Given the description of an element on the screen output the (x, y) to click on. 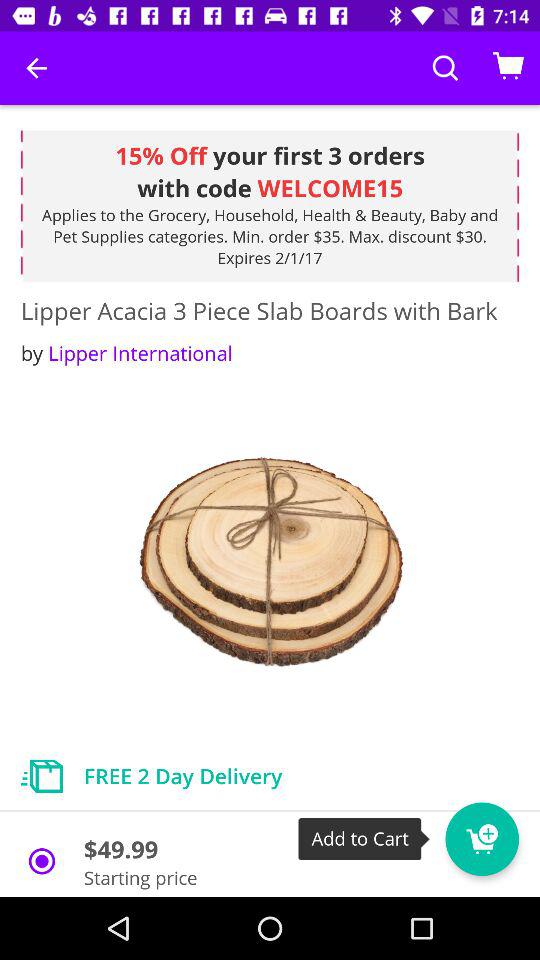
add item to cart (482, 839)
